Given the description of an element on the screen output the (x, y) to click on. 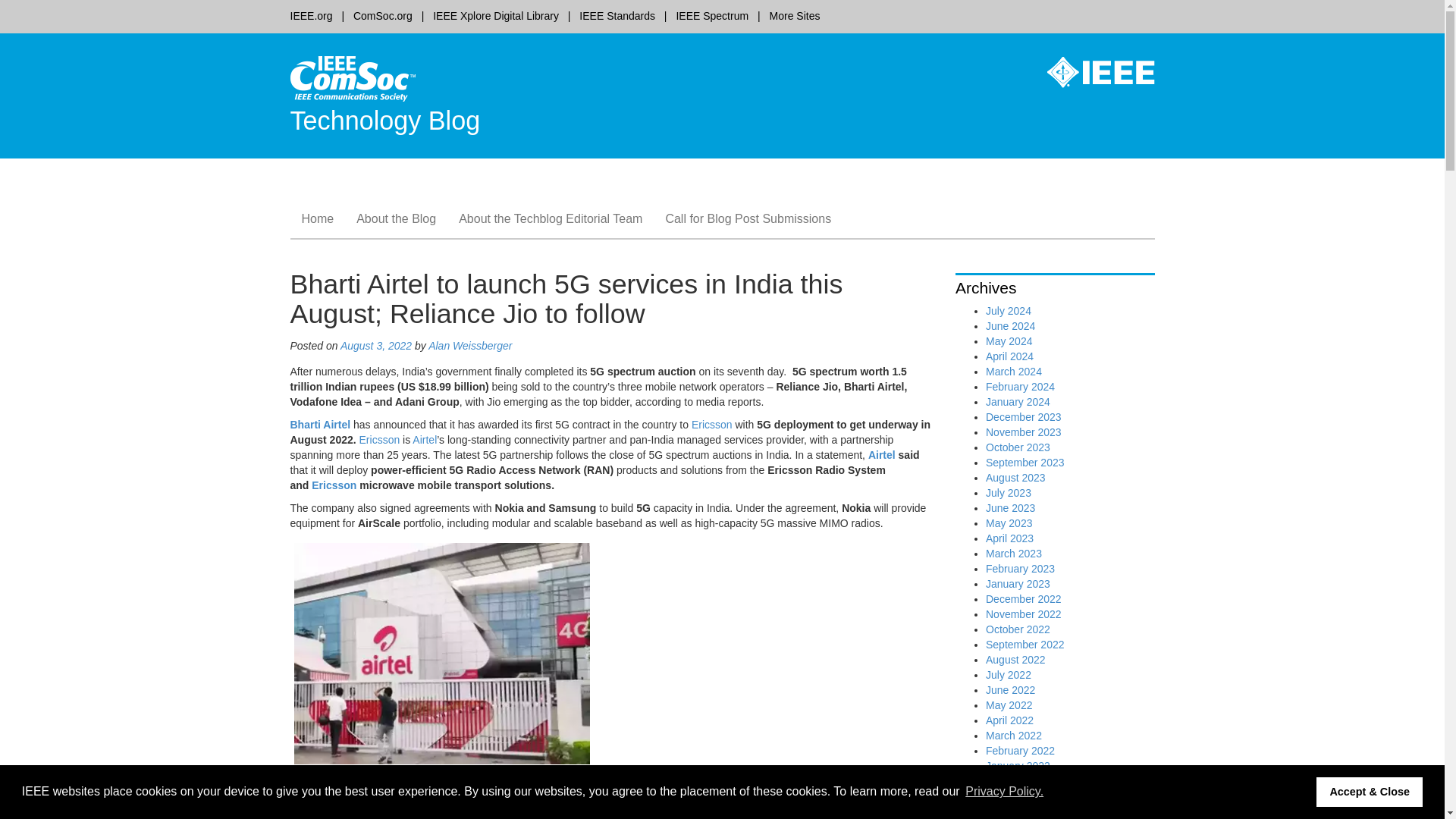
Bharti Airtel (436, 812)
ComSoc.org (382, 15)
Ericsson (338, 782)
IEEE Xplore Digital Library (495, 15)
August 3, 2022 (376, 345)
Meanwhile, Ericsson (338, 782)
Bharti Airtel.In (654, 782)
About the Techblog Editorial Team (549, 218)
Airtel (424, 439)
Ericsson (379, 439)
Home (317, 218)
Ericsson (379, 439)
Ericsson (781, 797)
Bharti Airtel (319, 424)
Privacy Policy. (1003, 791)
